Given the description of an element on the screen output the (x, y) to click on. 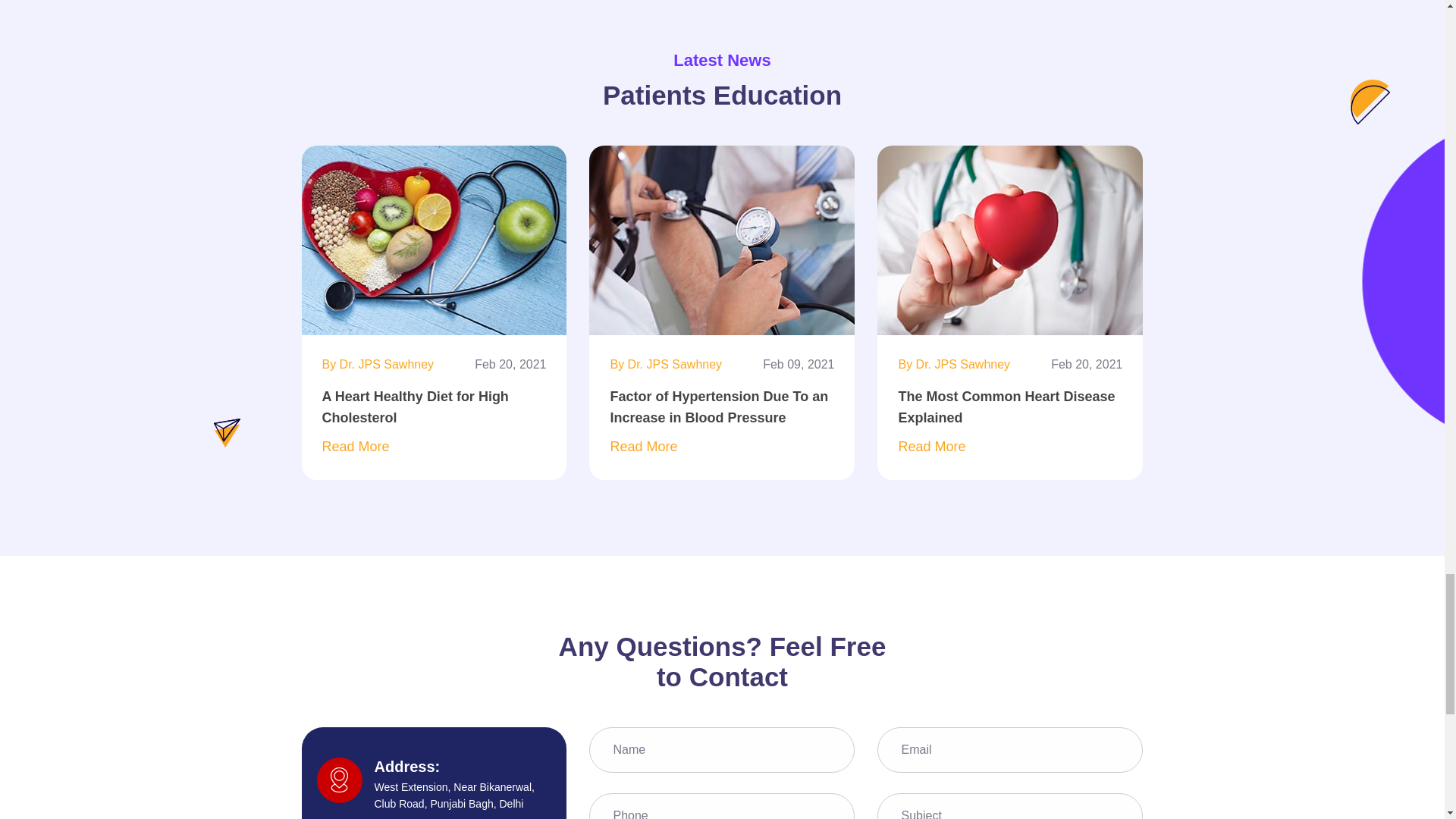
Read More (354, 448)
The Most Common Heart Disease Explained (1010, 421)
Read More (643, 448)
A Heart Healthy Diet for High Cholesterol (433, 421)
Factor of Hypertension Due To an Increase in Blood Pressure (722, 421)
Read More (931, 448)
